Given the description of an element on the screen output the (x, y) to click on. 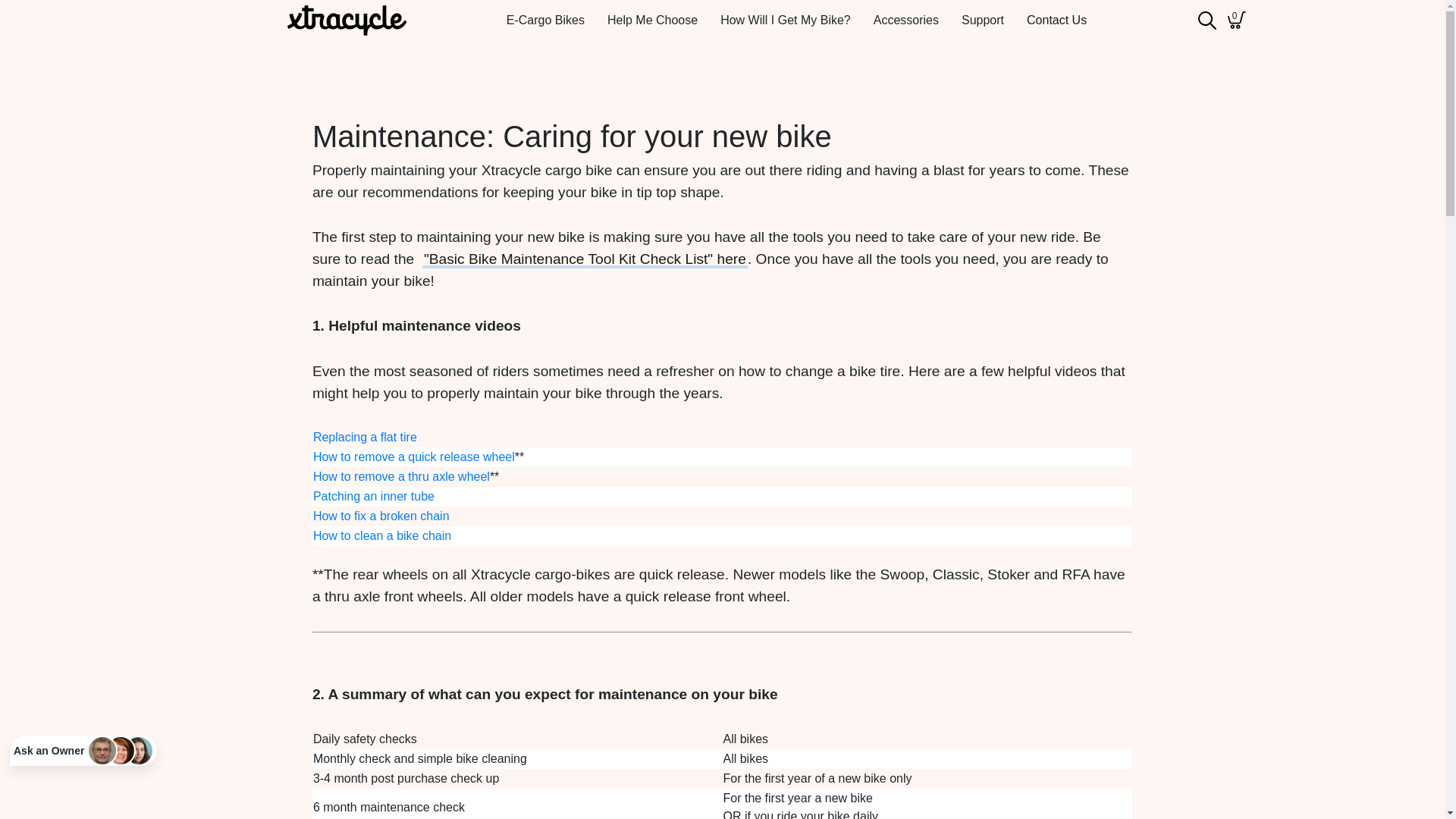
Xtracycle (346, 20)
Xtracycle (346, 20)
